Given the description of an element on the screen output the (x, y) to click on. 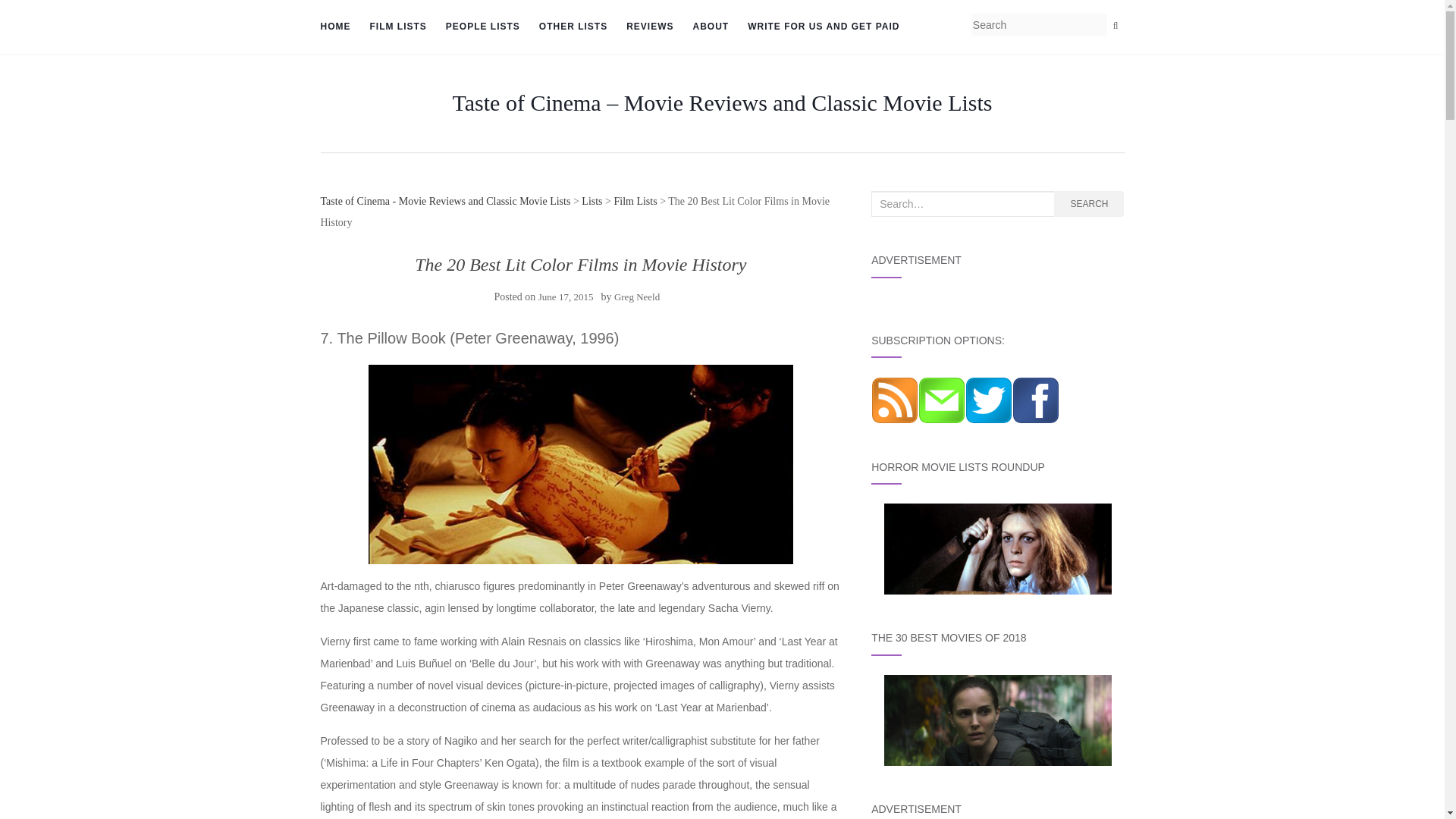
People Lists (482, 27)
Other Lists (572, 27)
WRITE FOR US AND GET PAID (823, 27)
Search for: (962, 203)
PEOPLE LISTS (482, 27)
OTHER LISTS (572, 27)
Go to the Lists category archives. (591, 201)
June 17, 2015 (566, 296)
Go to the Film Lists category archives. (634, 201)
Film Lists (397, 27)
